Given the description of an element on the screen output the (x, y) to click on. 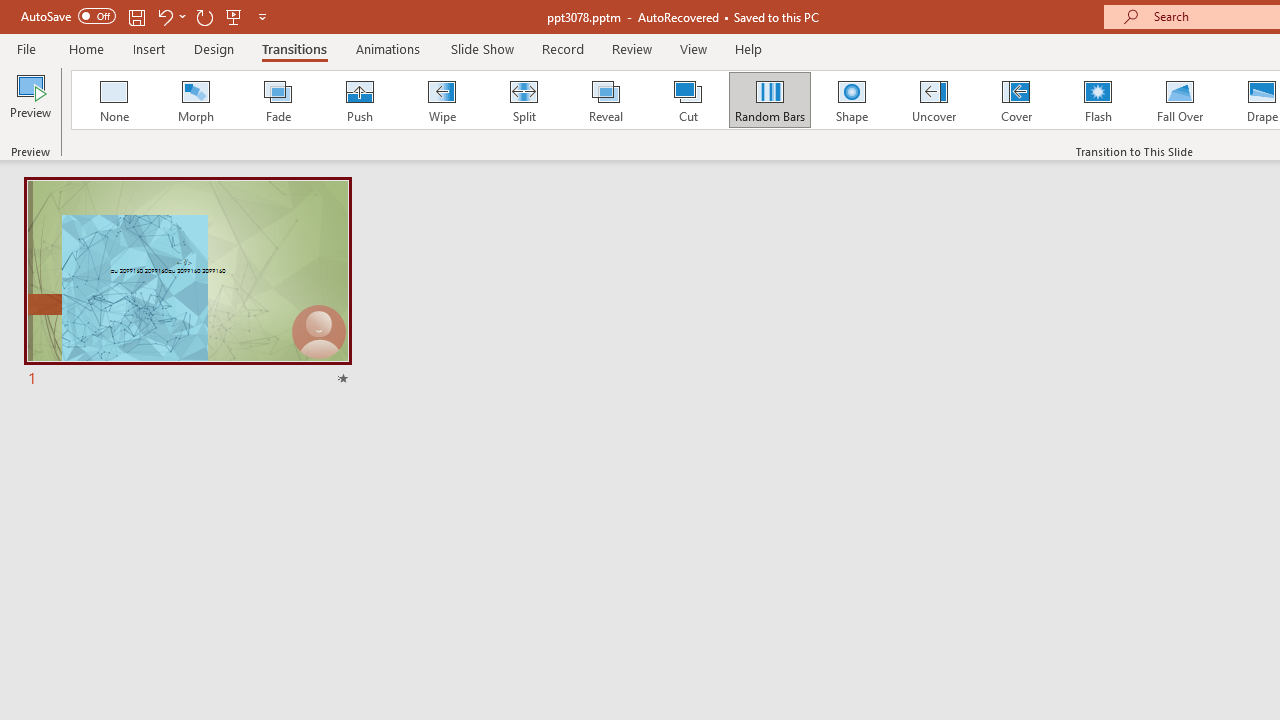
None (113, 100)
Cover (1016, 100)
Morph (195, 100)
Fall Over (1180, 100)
Wipe (441, 100)
